Given the description of an element on the screen output the (x, y) to click on. 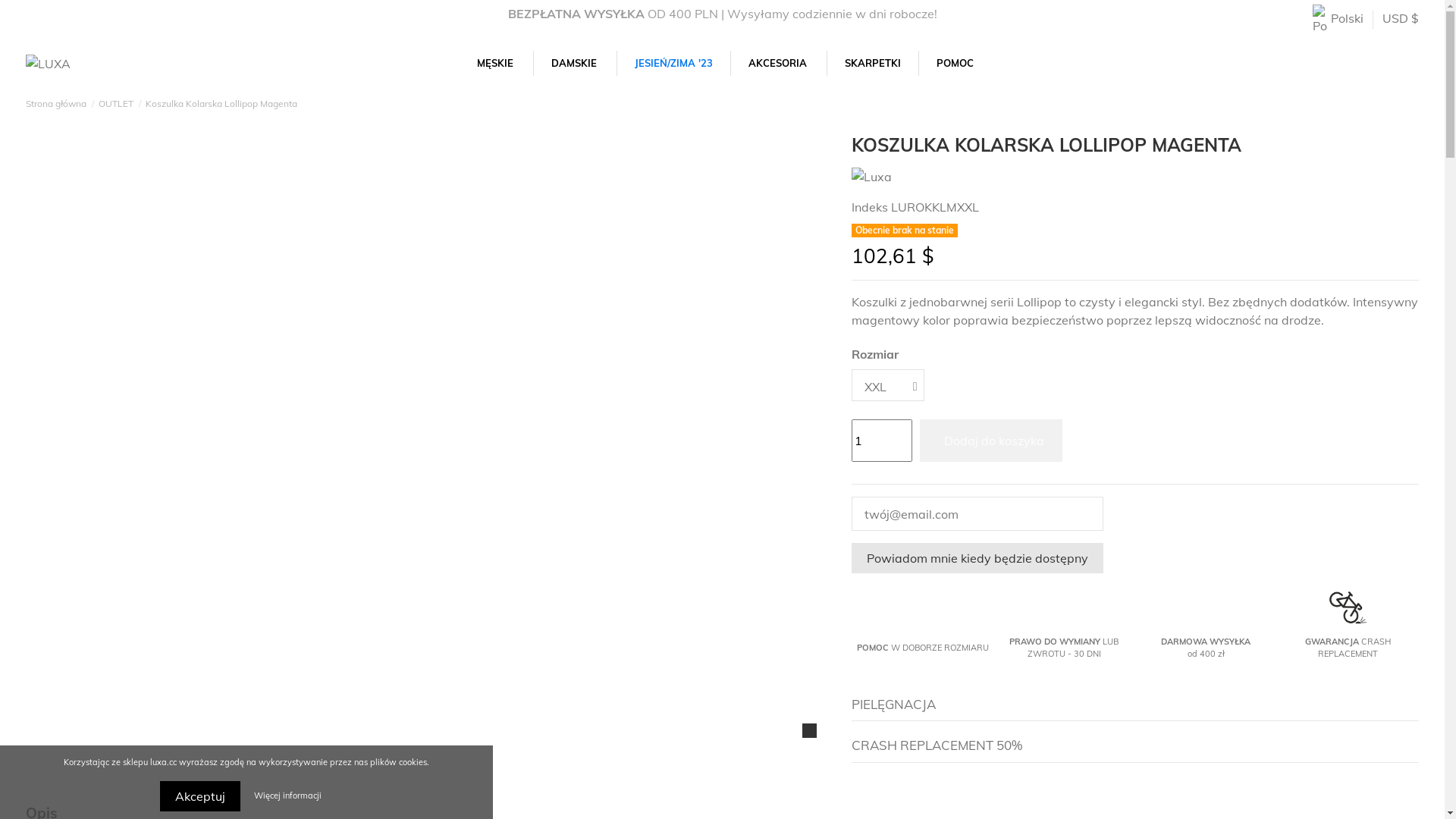
Dodaj do koszyka Element type: text (990, 440)
Polski Element type: text (1337, 17)
POMOC W DOBORZE ROZMIARU Element type: text (922, 647)
Koszulka Kolarska Luxa Lollipop Magenta Element type: hover (92, 212)
Akceptuj Element type: text (200, 796)
PRAWO DO WYMIANY LUB ZWROTU - 30 DNI Element type: text (1063, 647)
GWARANCJA CRASH REPLACEMENT Element type: text (1347, 647)
DAMSKIE Element type: text (574, 62)
AKCESORIA Element type: text (778, 62)
POMOC Element type: text (955, 62)
SKARPETKI Element type: text (872, 62)
USD $ Element type: text (1400, 17)
OUTLET Element type: text (115, 103)
CRASH REPLACEMENT 50% Element type: text (1134, 745)
